Given the description of an element on the screen output the (x, y) to click on. 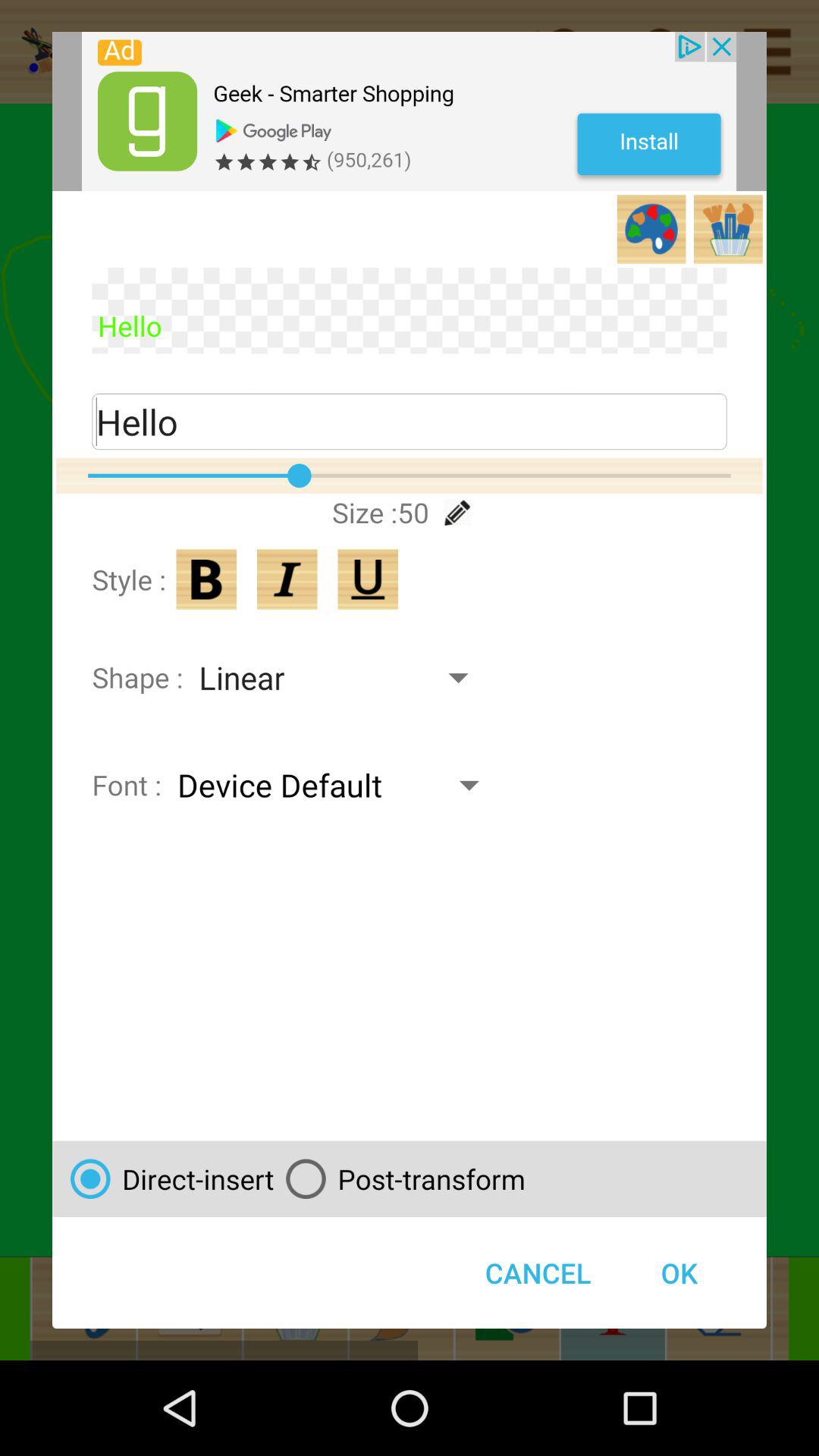
click for italics (287, 579)
